Given the description of an element on the screen output the (x, y) to click on. 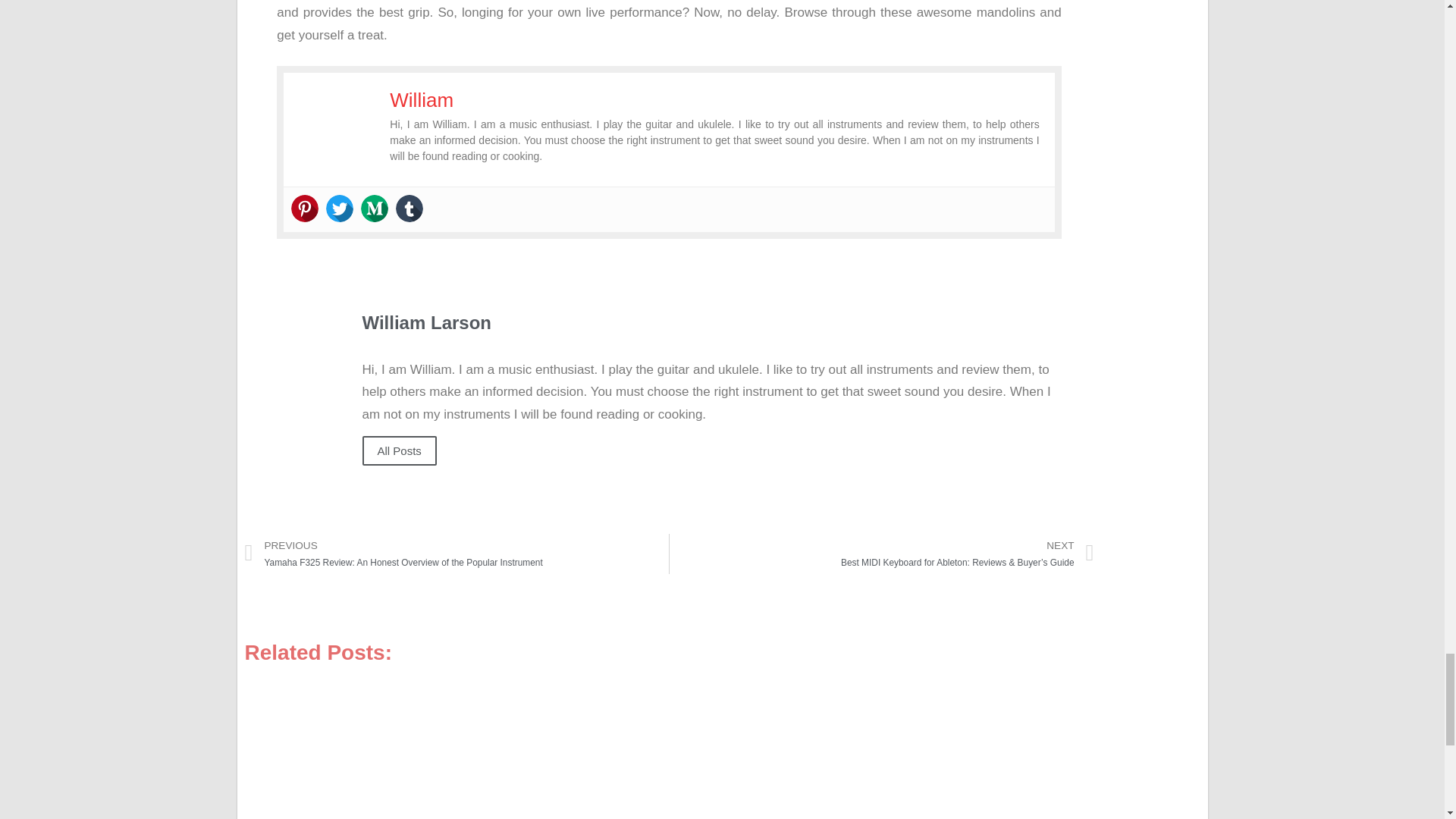
Tumblr (409, 207)
Pinterest (304, 207)
Twitter (339, 207)
Medium (374, 207)
